Given the description of an element on the screen output the (x, y) to click on. 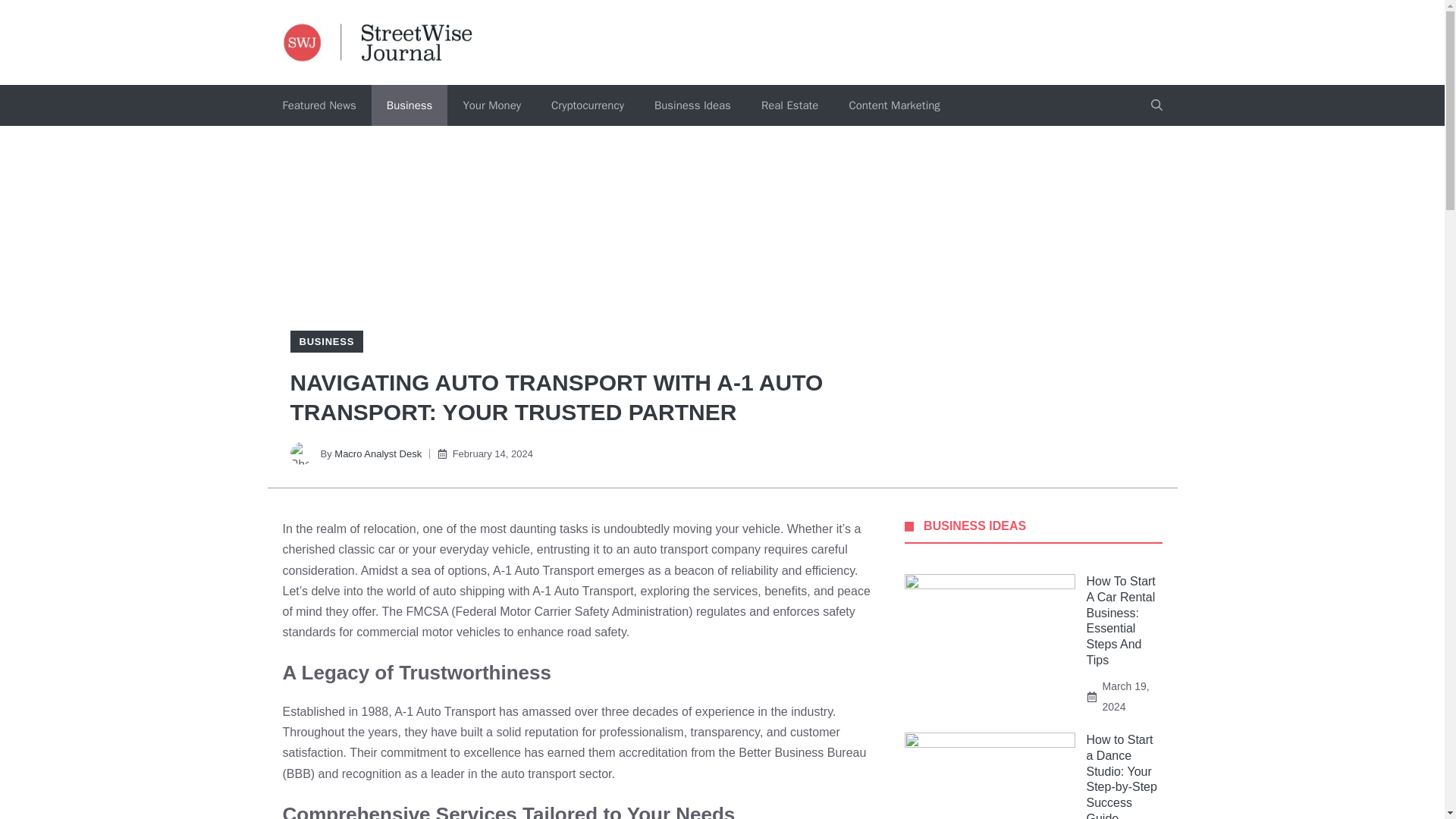
Content Marketing (893, 105)
Real Estate (788, 105)
Macro Analyst Desk (378, 453)
Cryptocurrency (587, 105)
Business Ideas (692, 105)
Featured News (318, 105)
FMCSA (427, 611)
Business (409, 105)
A-1 Auto Transport (444, 711)
auto shipping (468, 590)
BUSINESS (325, 341)
Your Money (490, 105)
